Given the description of an element on the screen output the (x, y) to click on. 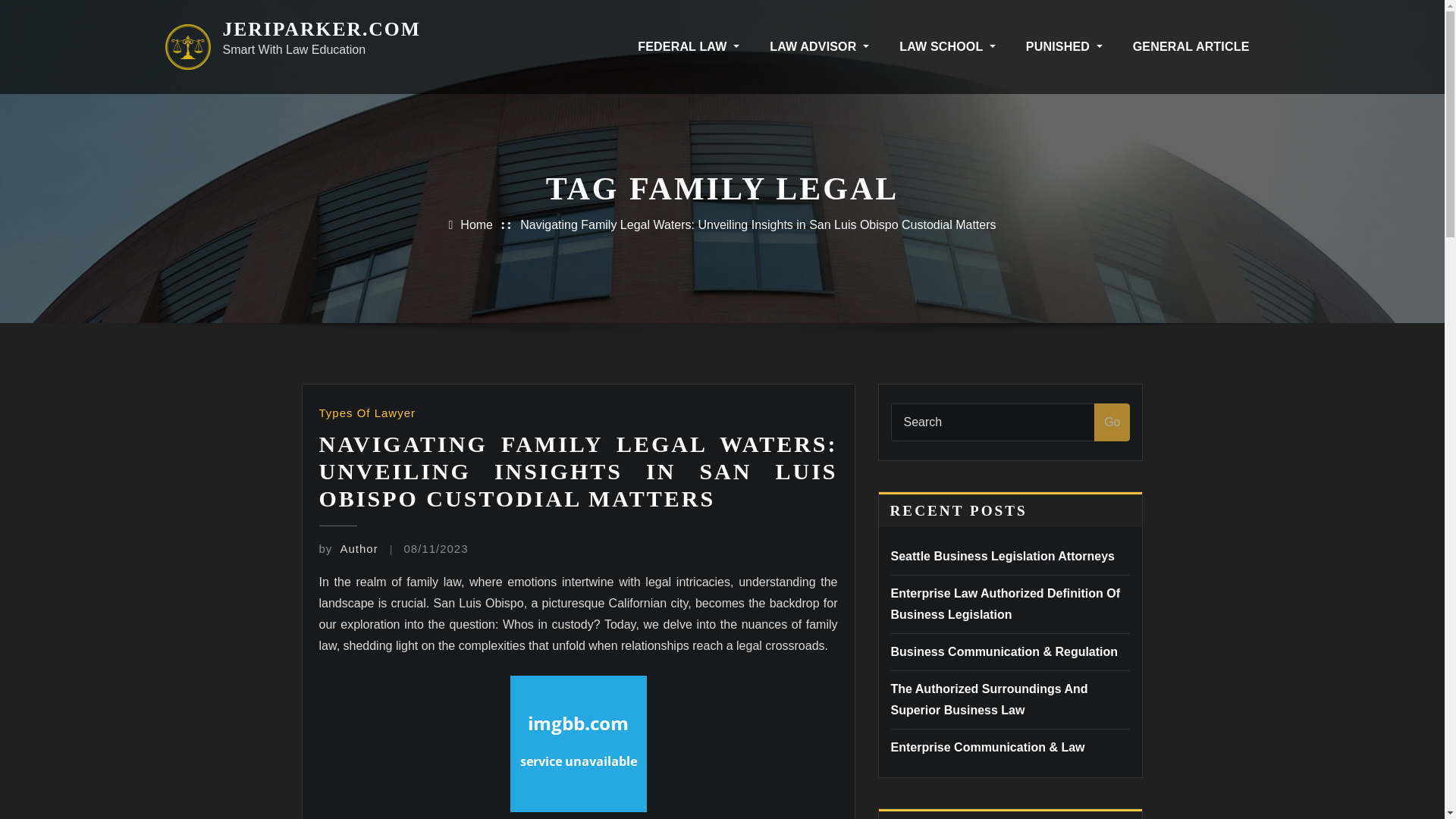
Go (1111, 422)
LAW ADVISOR (818, 46)
Enterprise Law Authorized Definition Of Business Legislation (1004, 603)
Seattle Business Legislation Attorneys (1001, 555)
FEDERAL LAW (688, 46)
LAW SCHOOL (946, 46)
by Author (347, 548)
Home (476, 224)
Types Of Lawyer (366, 412)
GENERAL ARTICLE (1191, 46)
PUNISHED (1064, 46)
JERIPARKER.COM (321, 29)
